Given the description of an element on the screen output the (x, y) to click on. 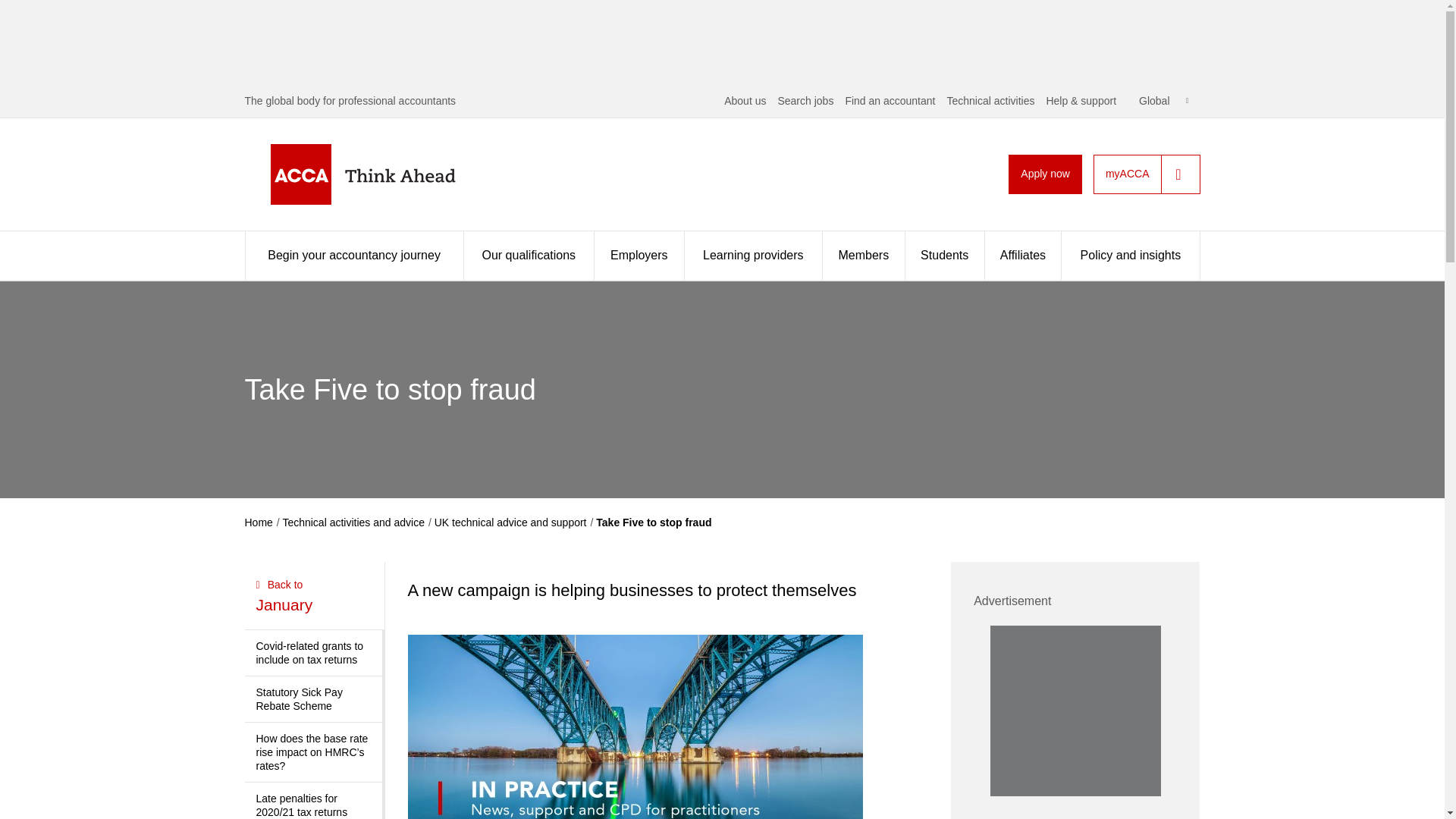
Find an accountant (889, 101)
Technical activities (989, 101)
Search jobs (804, 101)
Global (1162, 100)
About us (744, 101)
Global (1162, 100)
IP-header (635, 726)
ACCA - Think Ahead (387, 174)
